Given the description of an element on the screen output the (x, y) to click on. 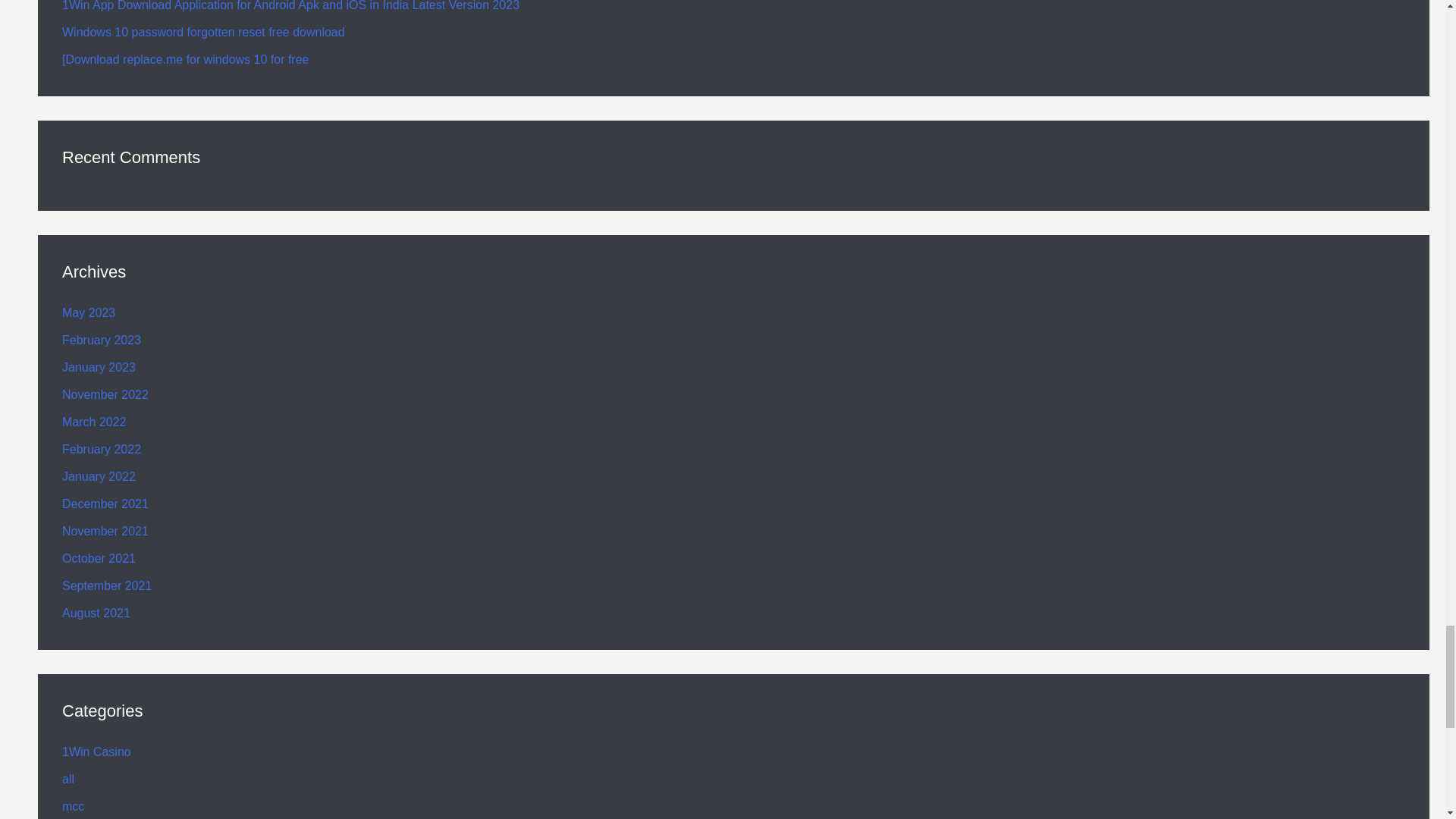
November 2022 (105, 394)
May 2023 (88, 312)
January 2023 (98, 367)
February 2023 (101, 339)
Windows 10 password forgotten reset free download (203, 31)
